Given the description of an element on the screen output the (x, y) to click on. 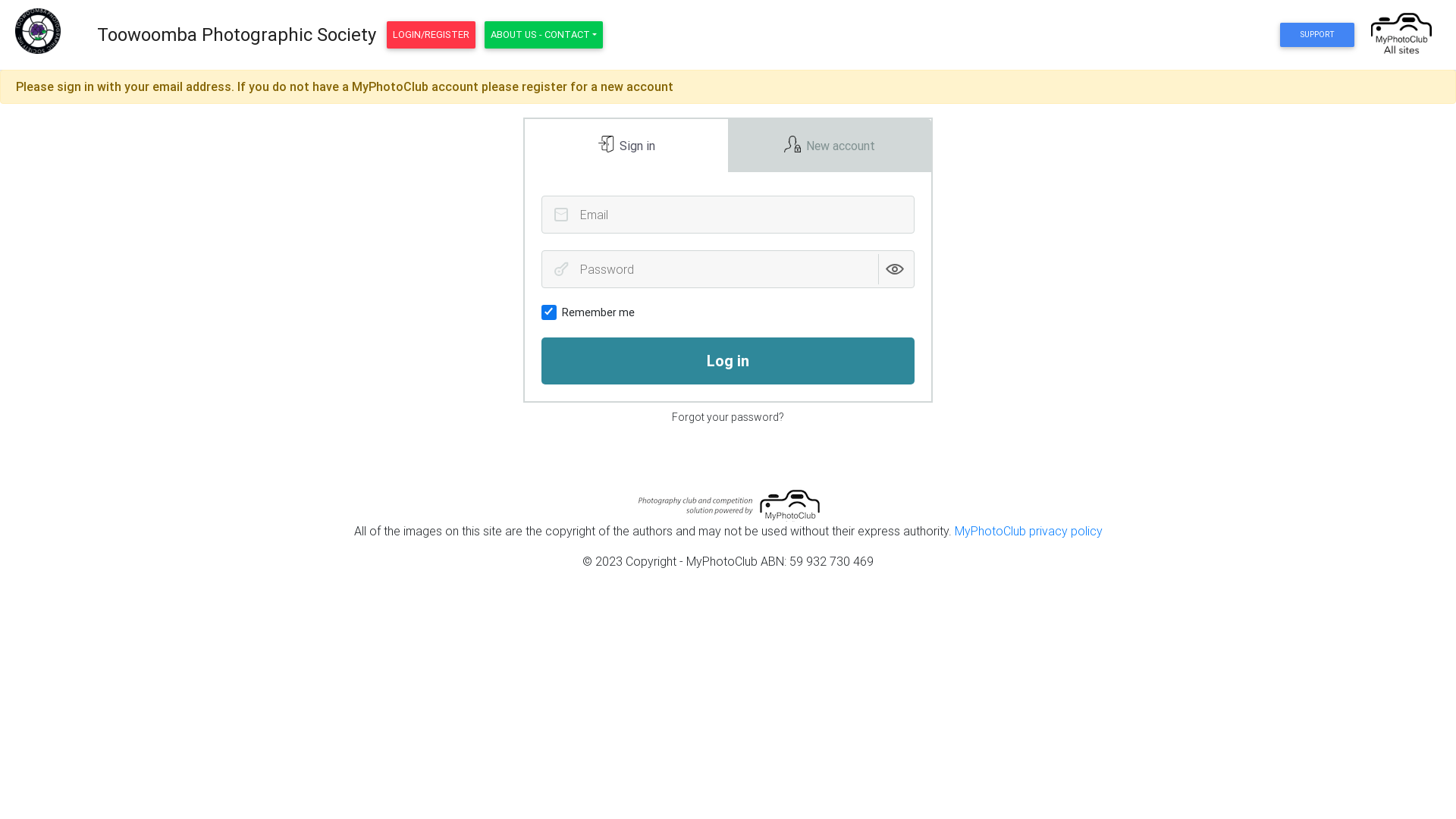
Log in Element type: text (727, 360)
Forgot your password? Element type: text (727, 416)
Email Element type: hover (560, 214)
Toowoomba Photographic Society Element type: text (236, 35)
Sign in Element type: text (626, 145)
ABOUT US - CONTACT Element type: text (543, 34)
SUPPORT Element type: text (1316, 34)
MyPhotoClub privacy policy Element type: text (1027, 530)
New account Element type: text (829, 145)
LOGIN/REGISTER Element type: text (430, 34)
Password Element type: hover (560, 268)
